Given the description of an element on the screen output the (x, y) to click on. 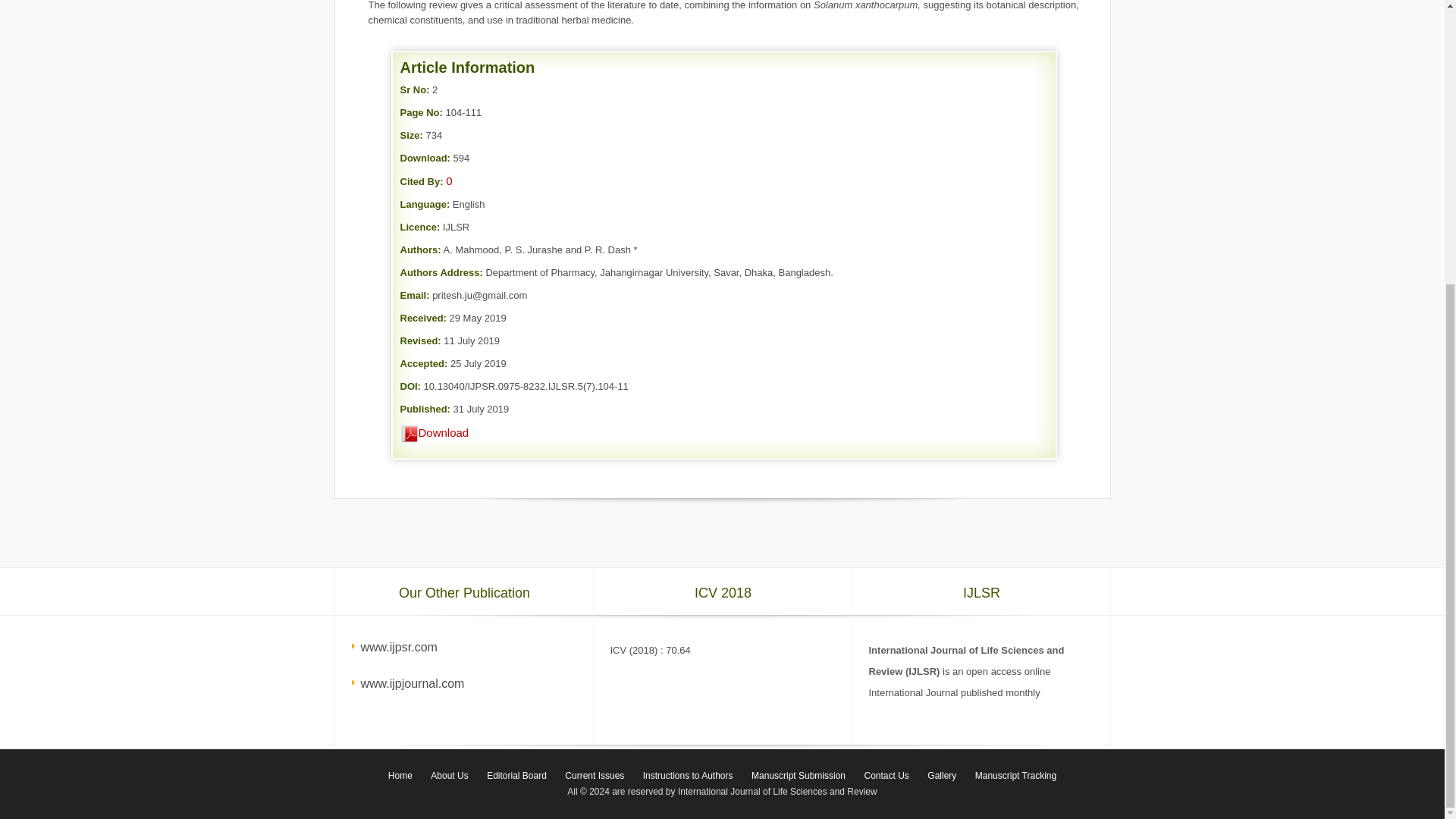
Current Issues (594, 775)
Contact Us (885, 775)
About Us (449, 775)
Manuscript Submission (798, 775)
Download (434, 431)
Editorial Board (516, 775)
Home (400, 775)
Gallery (941, 775)
Manuscript Tracking (1016, 775)
Download PDF (409, 434)
